Given the description of an element on the screen output the (x, y) to click on. 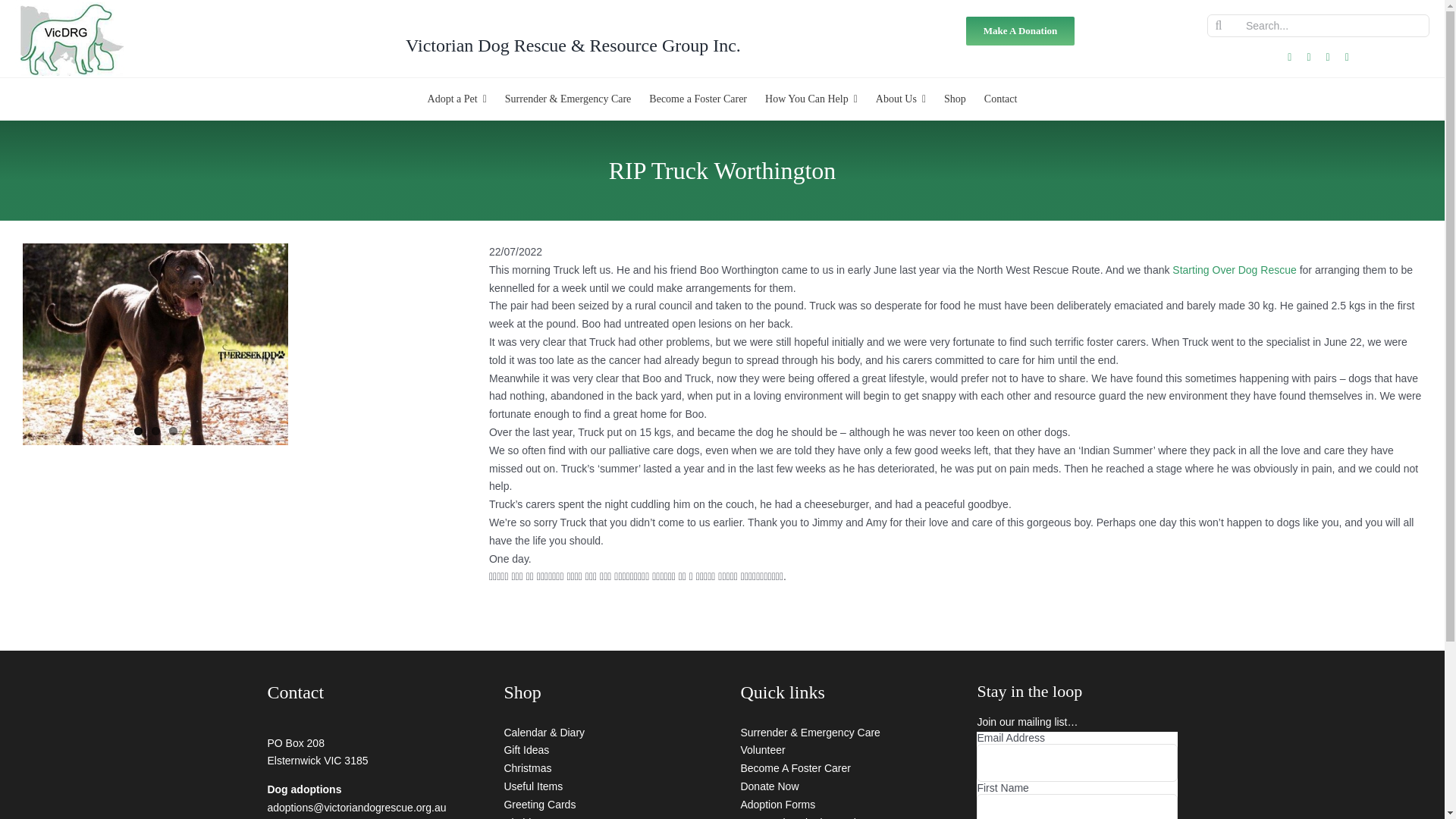
About Us (900, 99)
Become a Foster Carer (697, 99)
How You Can Help (810, 99)
Adopt a Pet (457, 99)
Make A Donation (1020, 30)
Make A Donation (1020, 30)
Shop (954, 99)
Contact (1000, 99)
